Given the description of an element on the screen output the (x, y) to click on. 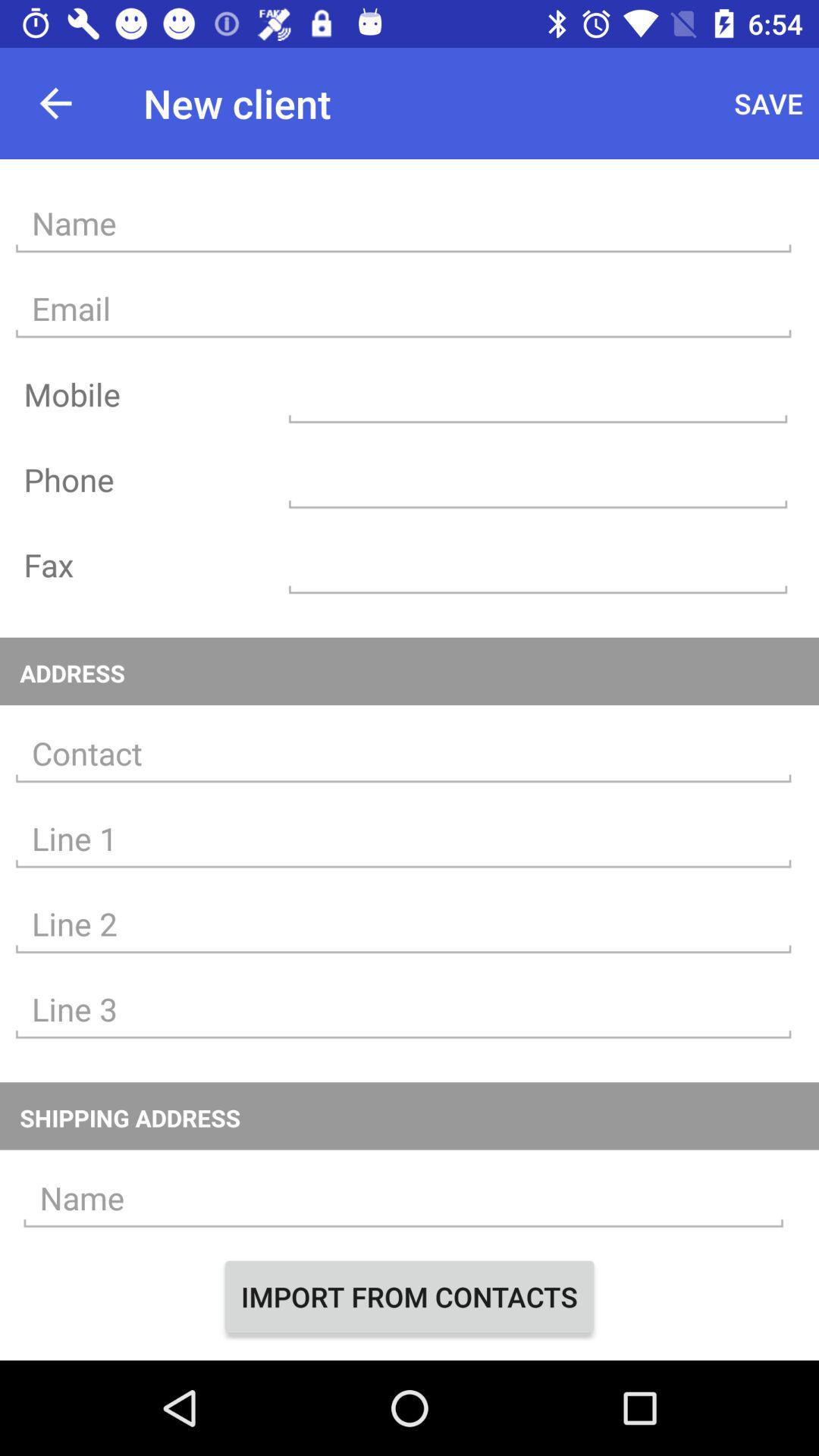
area for name (403, 1198)
